Given the description of an element on the screen output the (x, y) to click on. 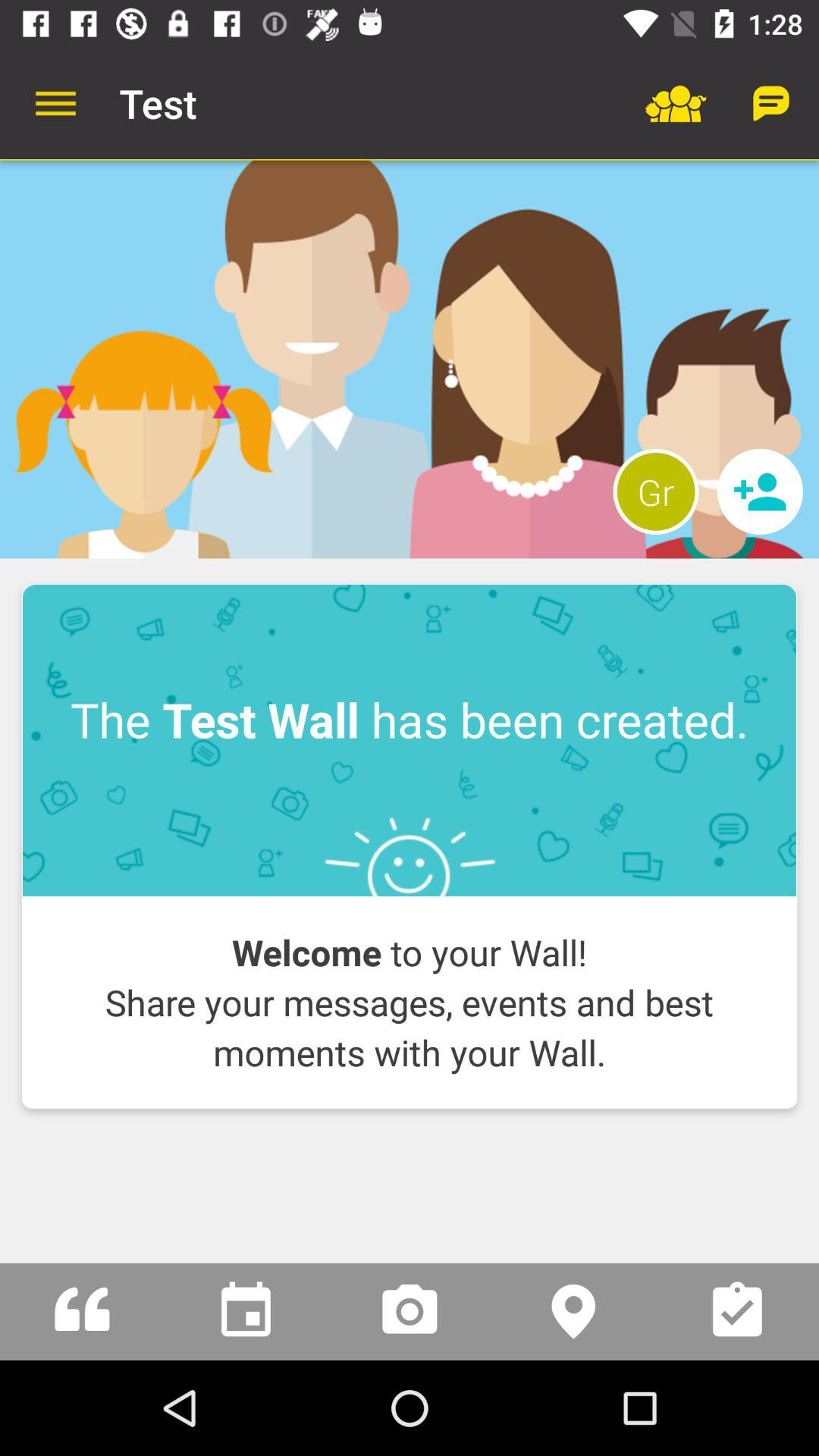
select the gr icon (655, 491)
